Given the description of an element on the screen output the (x, y) to click on. 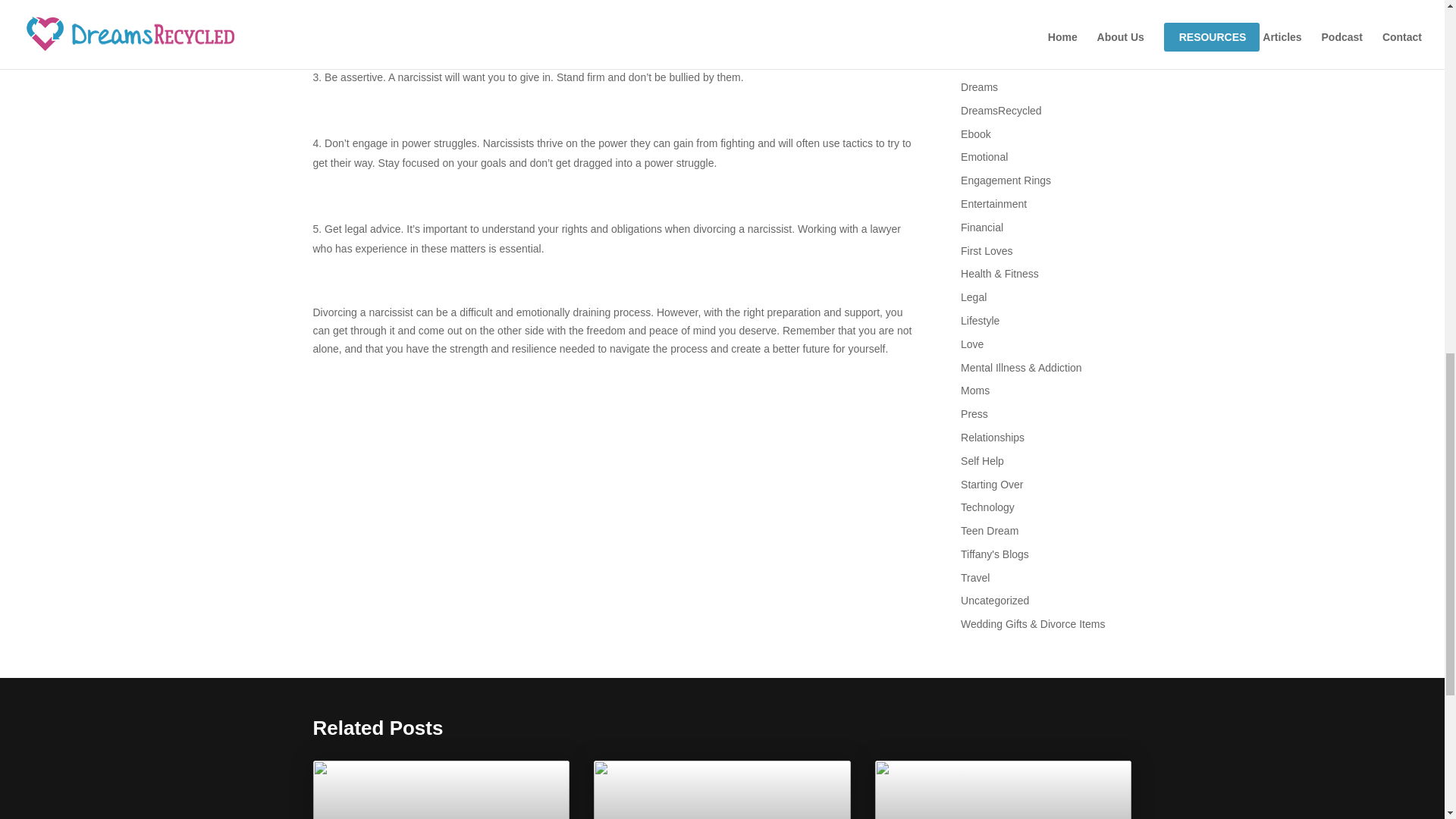
Emotional (983, 156)
Dating (975, 39)
Dreams (978, 87)
Dads (972, 17)
Ebook (975, 133)
DreamsRecycled (1001, 110)
Engagement Rings (1005, 180)
Divorce (977, 63)
Legal (973, 297)
Financial (981, 227)
